Given the description of an element on the screen output the (x, y) to click on. 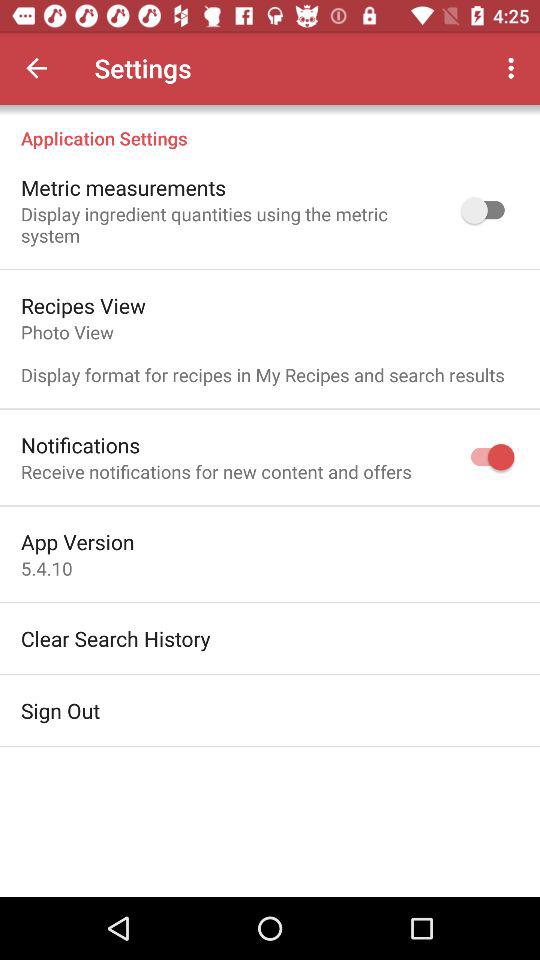
choose icon above notifications (262, 353)
